Given the description of an element on the screen output the (x, y) to click on. 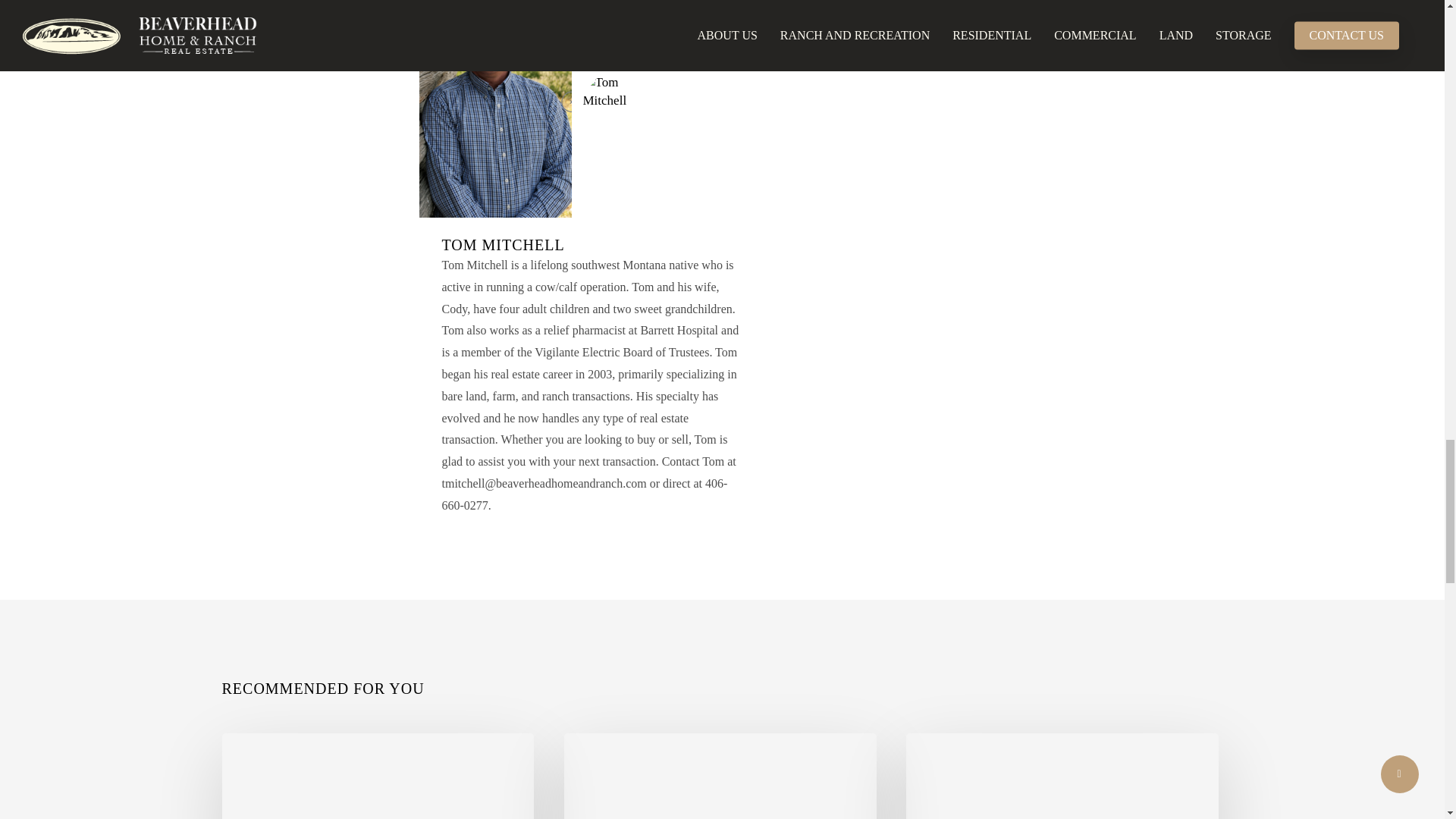
TOM MITCHELL (502, 244)
